Given the description of an element on the screen output the (x, y) to click on. 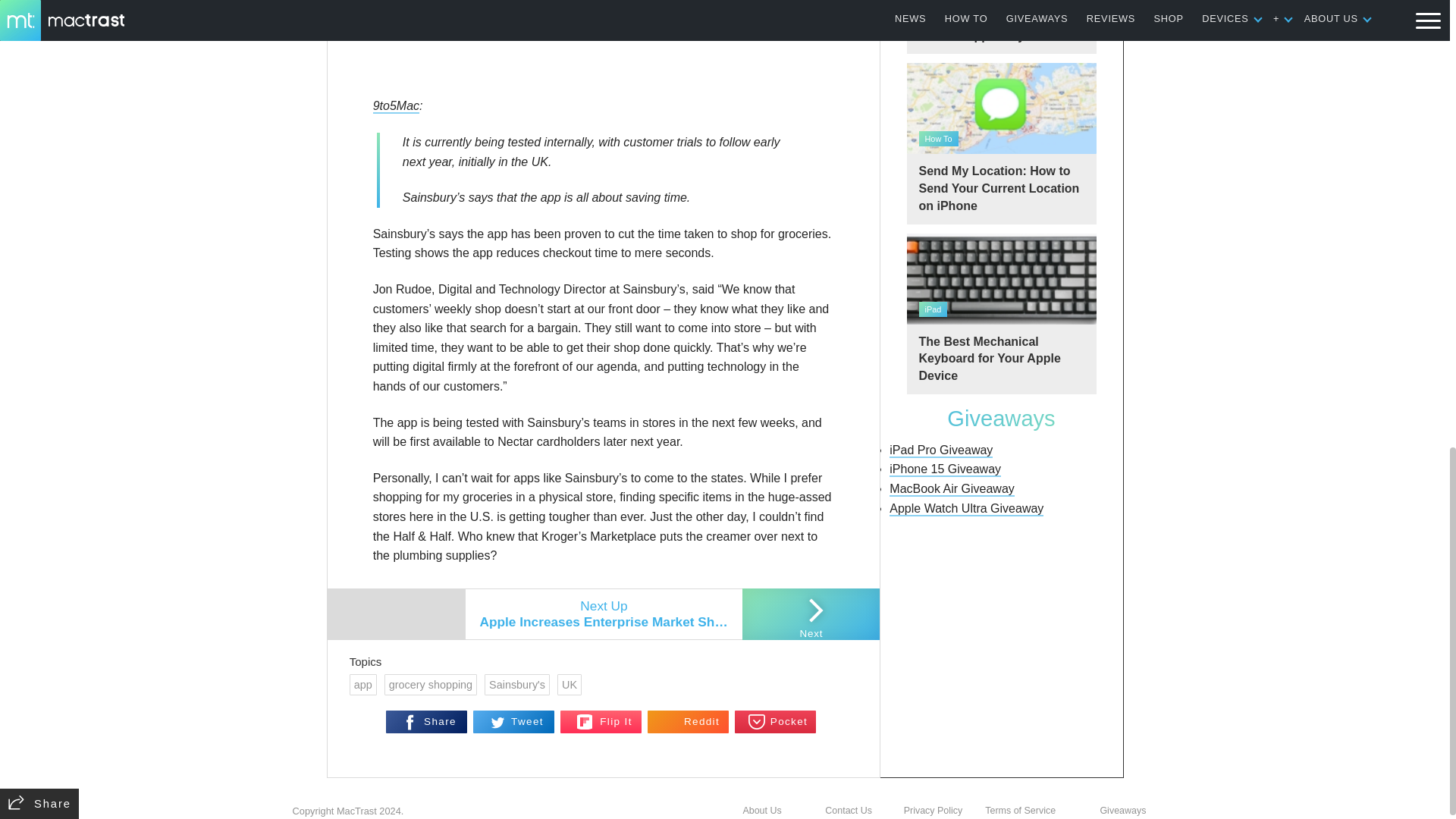
Tweet (513, 721)
Sainsbury's app (603, 41)
Share on Reddit (688, 721)
Share on Facebook (426, 721)
